Given the description of an element on the screen output the (x, y) to click on. 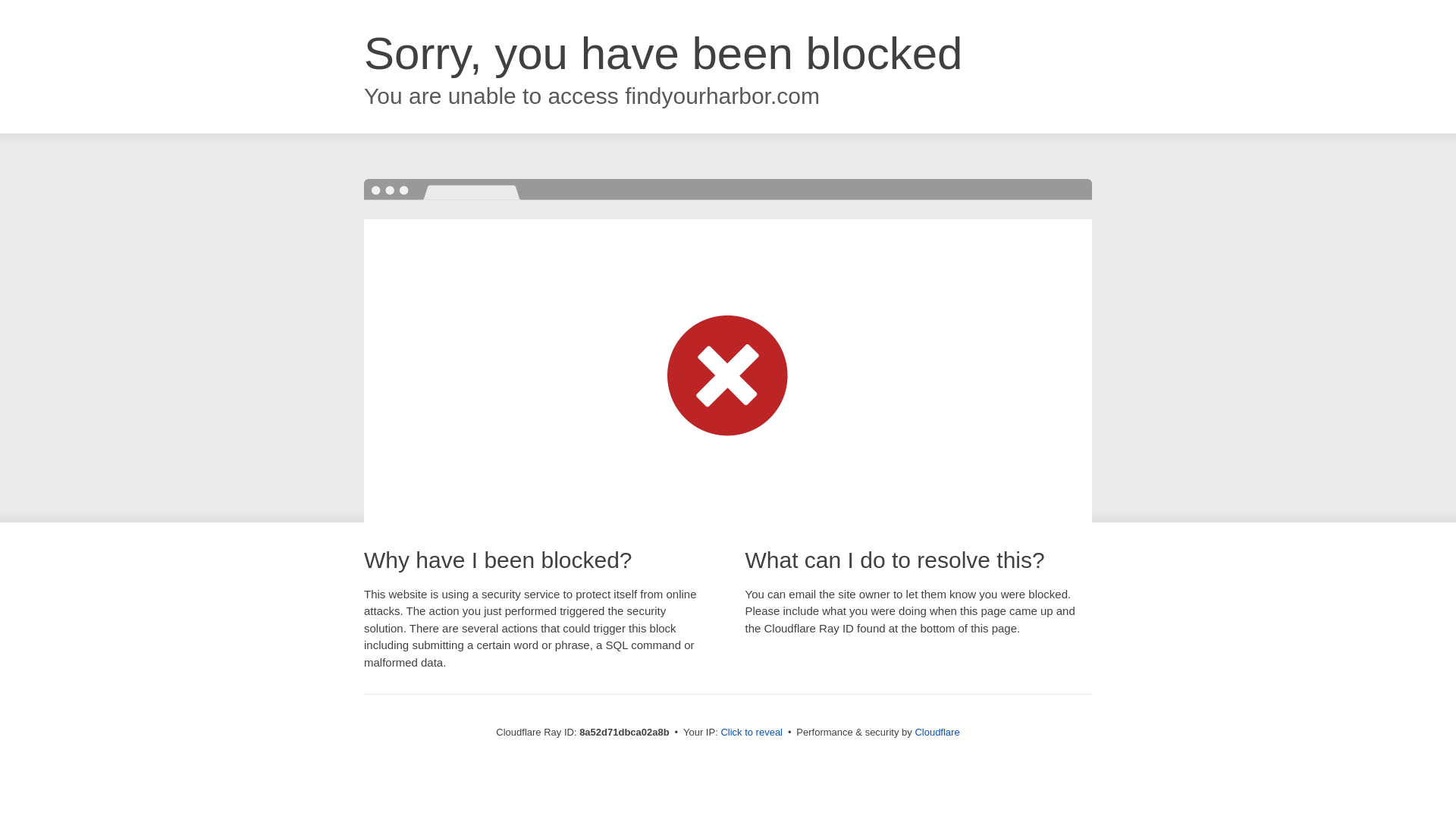
Cloudflare (936, 731)
Click to reveal (751, 732)
